Given the description of an element on the screen output the (x, y) to click on. 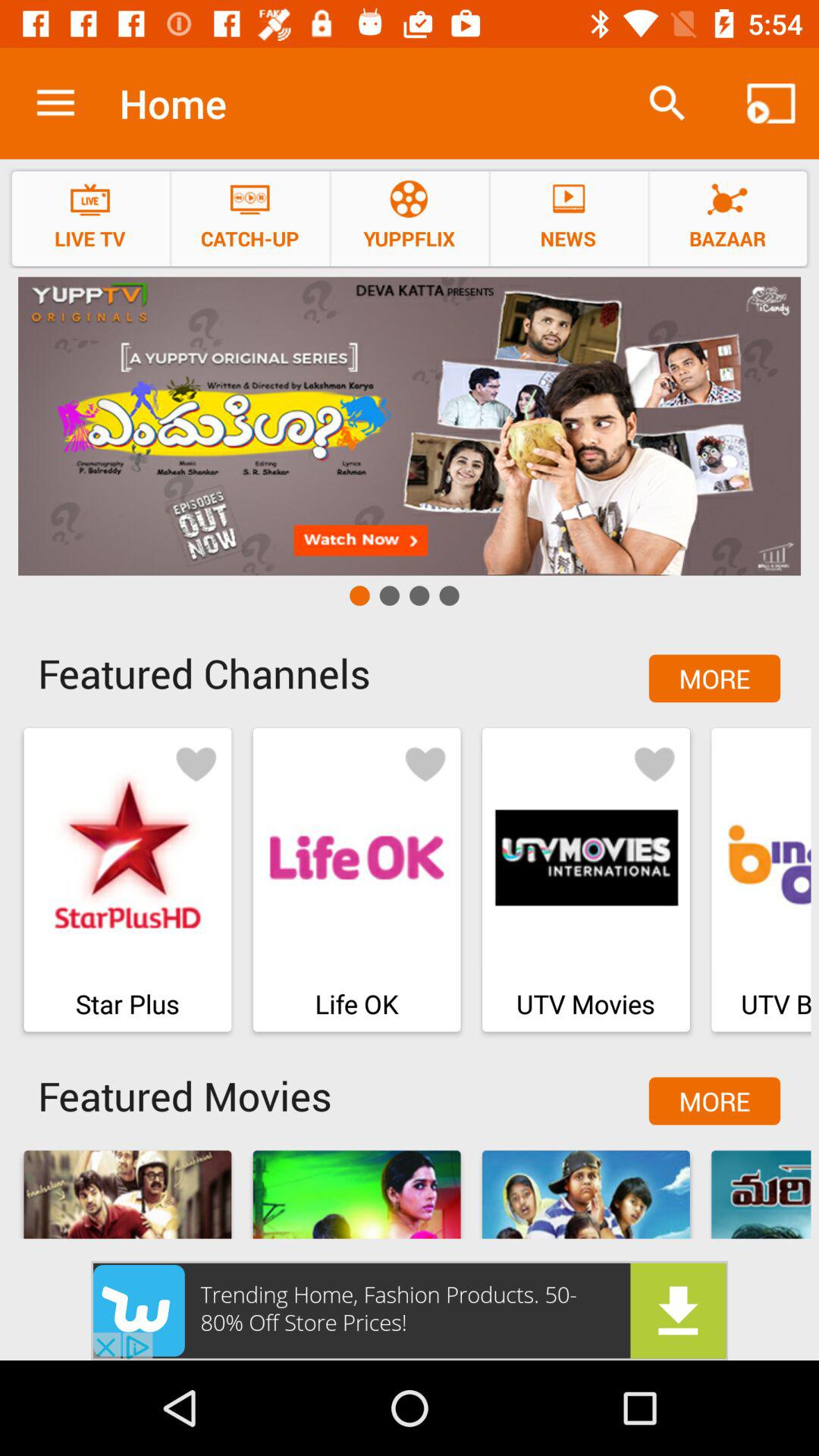
like the option (654, 763)
